Given the description of an element on the screen output the (x, y) to click on. 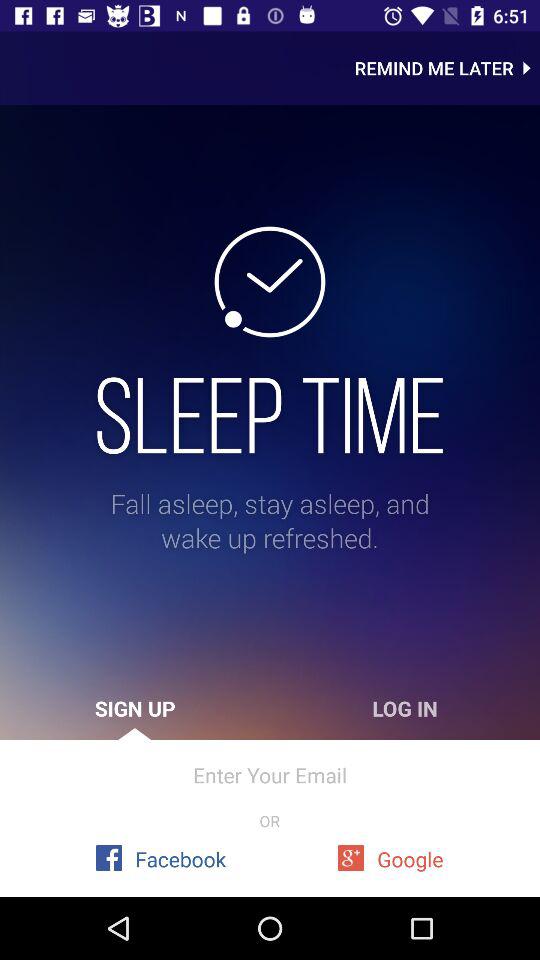
turn off log in (405, 707)
